Given the description of an element on the screen output the (x, y) to click on. 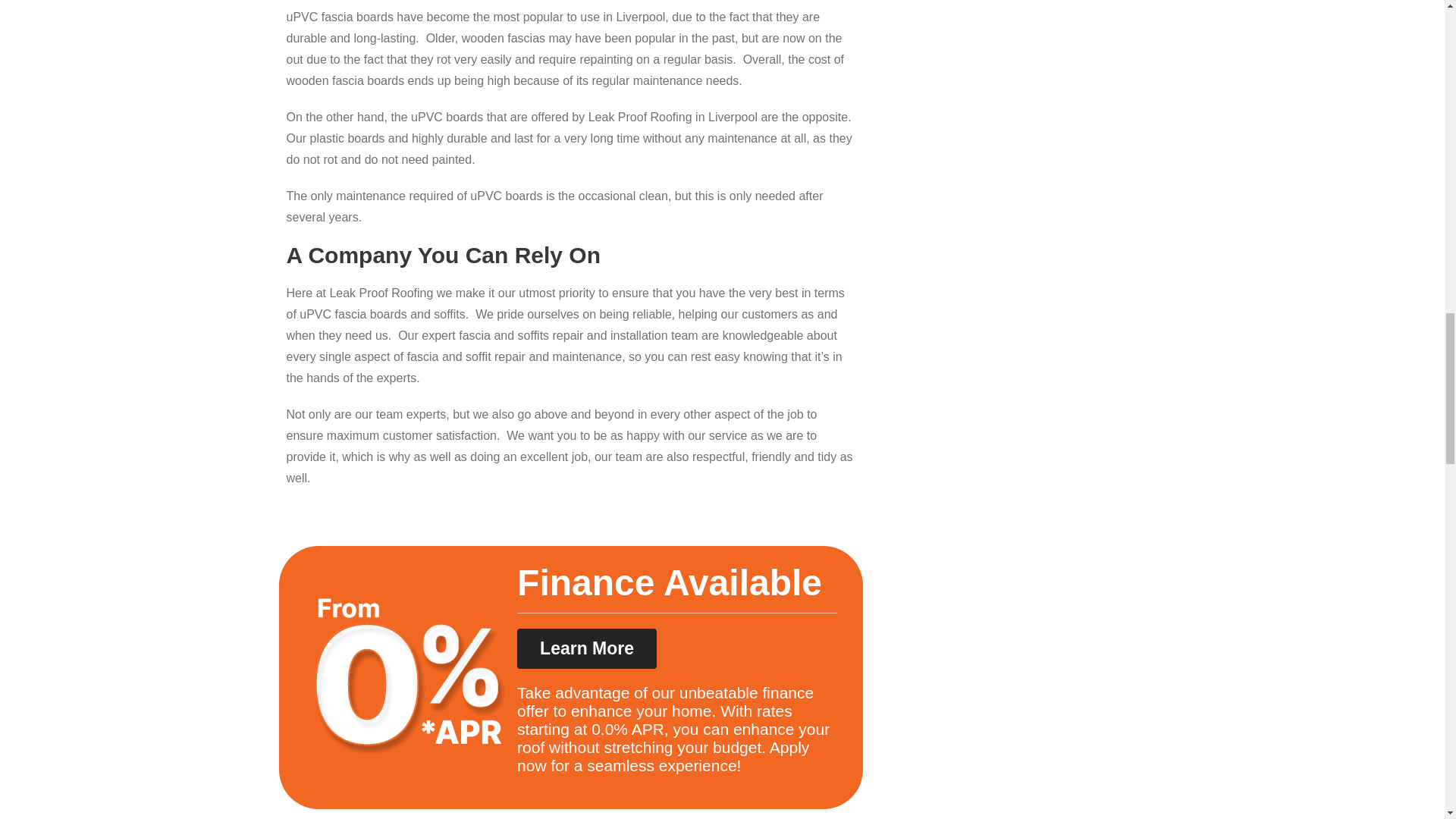
Group 12 (409, 688)
